Given the description of an element on the screen output the (x, y) to click on. 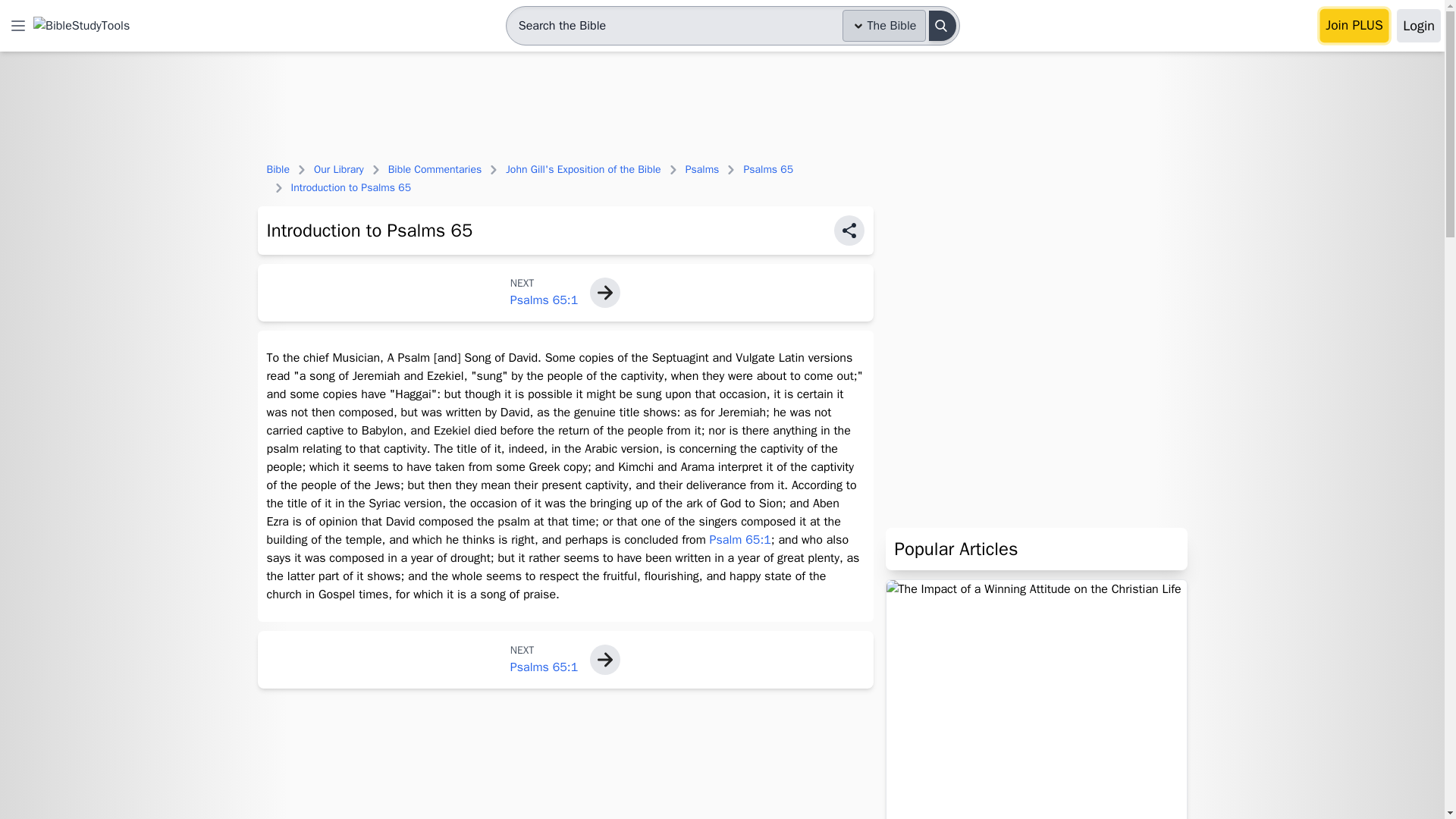
Login (1418, 25)
The Bible (884, 25)
Join PLUS (1354, 25)
